Given the description of an element on the screen output the (x, y) to click on. 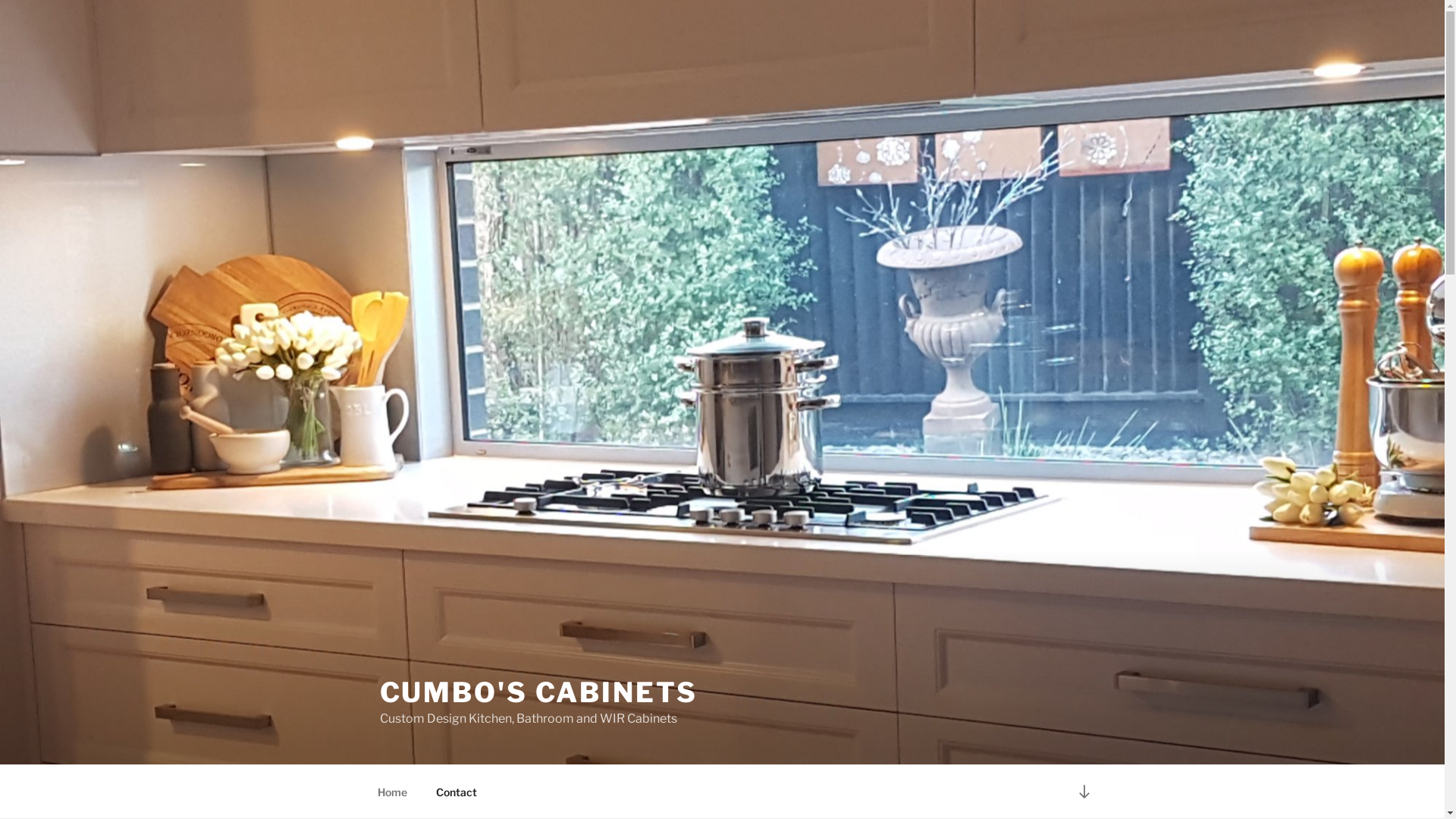
Scroll down to content Element type: text (1083, 790)
Skip to content Element type: text (0, 0)
Home Element type: text (392, 791)
CUMBO'S CABINETS Element type: text (537, 692)
Contact Element type: text (456, 791)
